Given the description of an element on the screen output the (x, y) to click on. 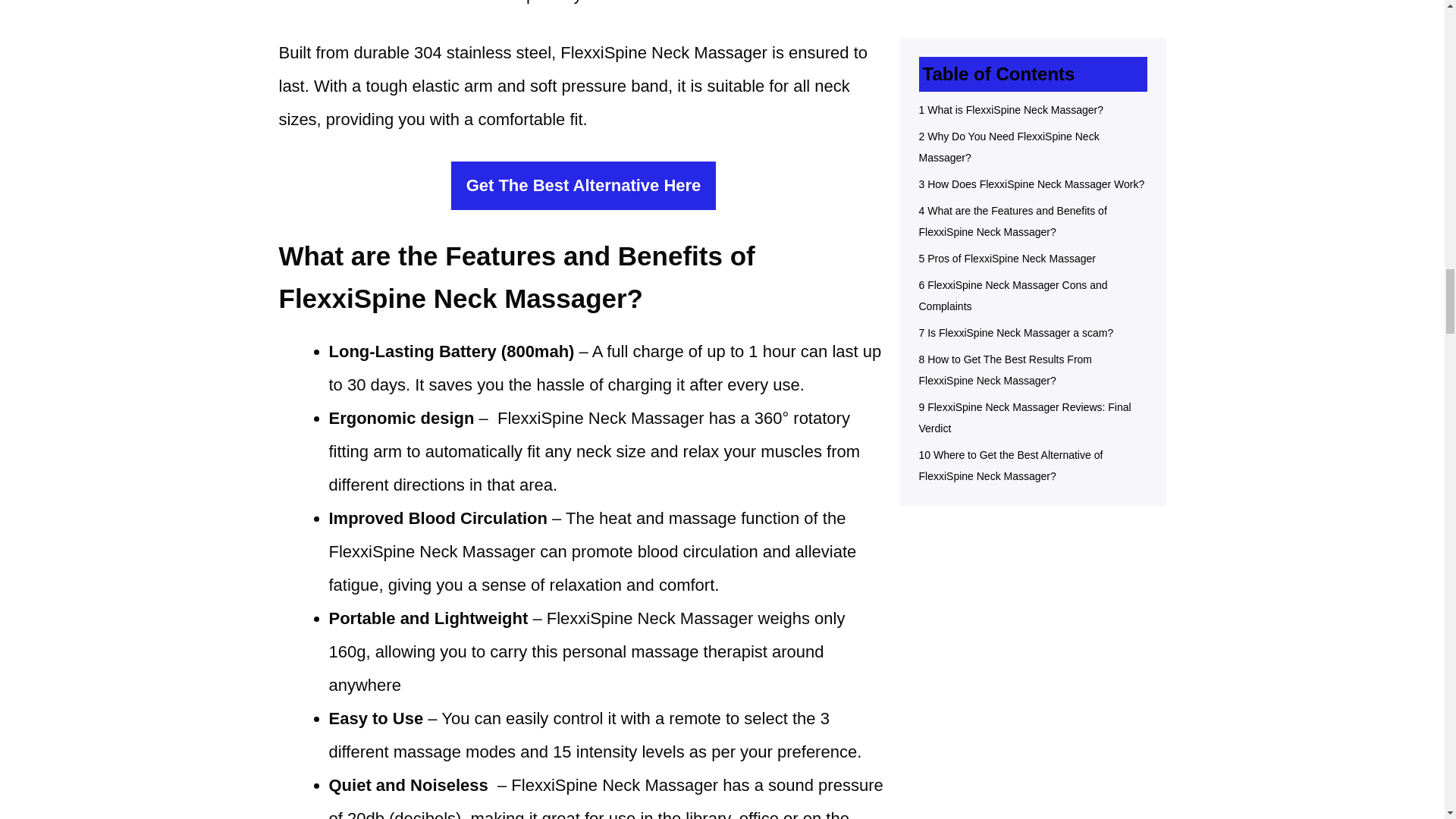
Get The Best Alternative Here (583, 185)
